Given the description of an element on the screen output the (x, y) to click on. 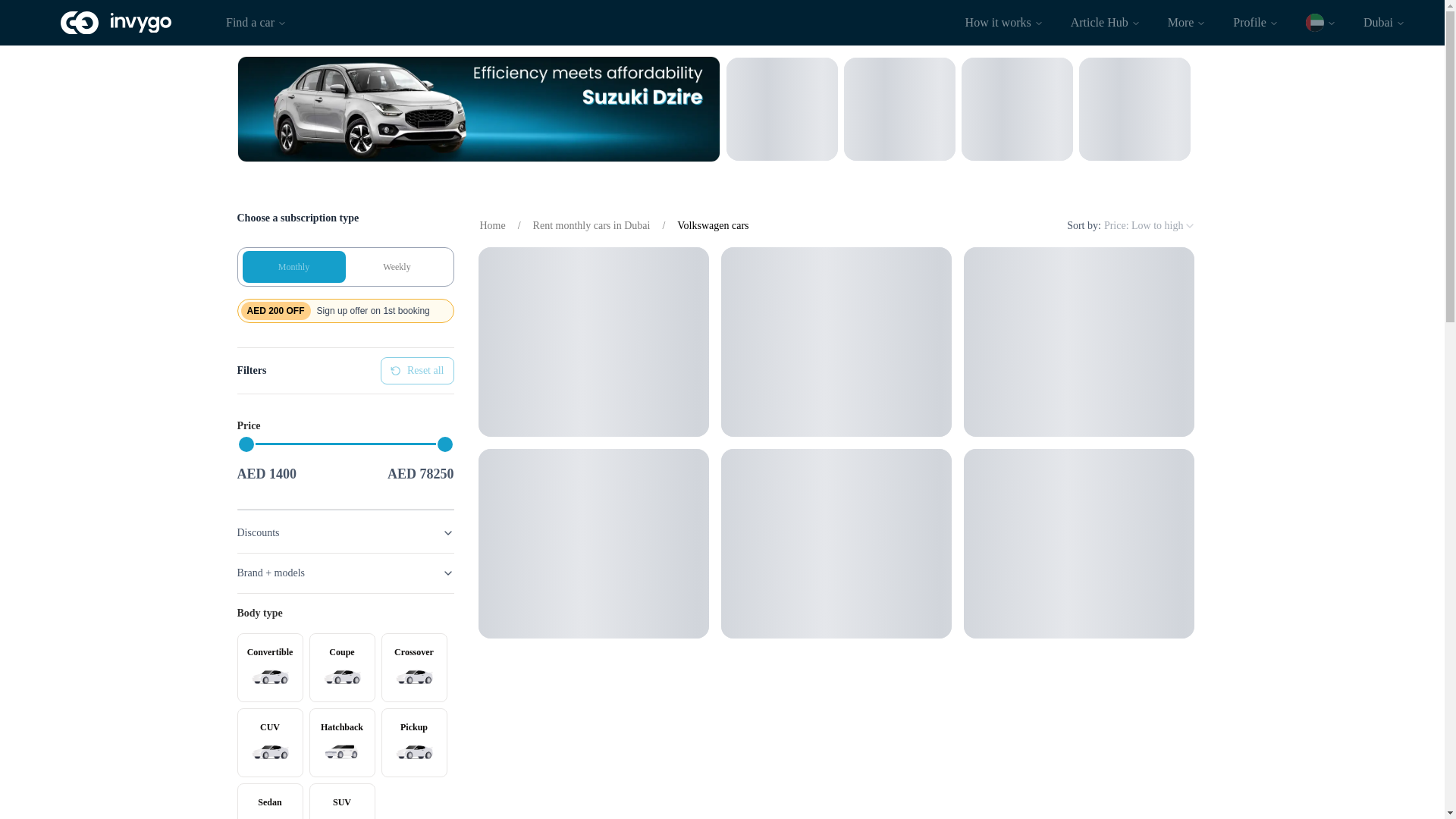
How it works (1004, 22)
CUV (268, 742)
Coupe (341, 667)
More (1187, 22)
Body type (343, 613)
Dubai (1383, 22)
Price (343, 310)
SUV (343, 426)
Volkswagen cars (341, 800)
